Given the description of an element on the screen output the (x, y) to click on. 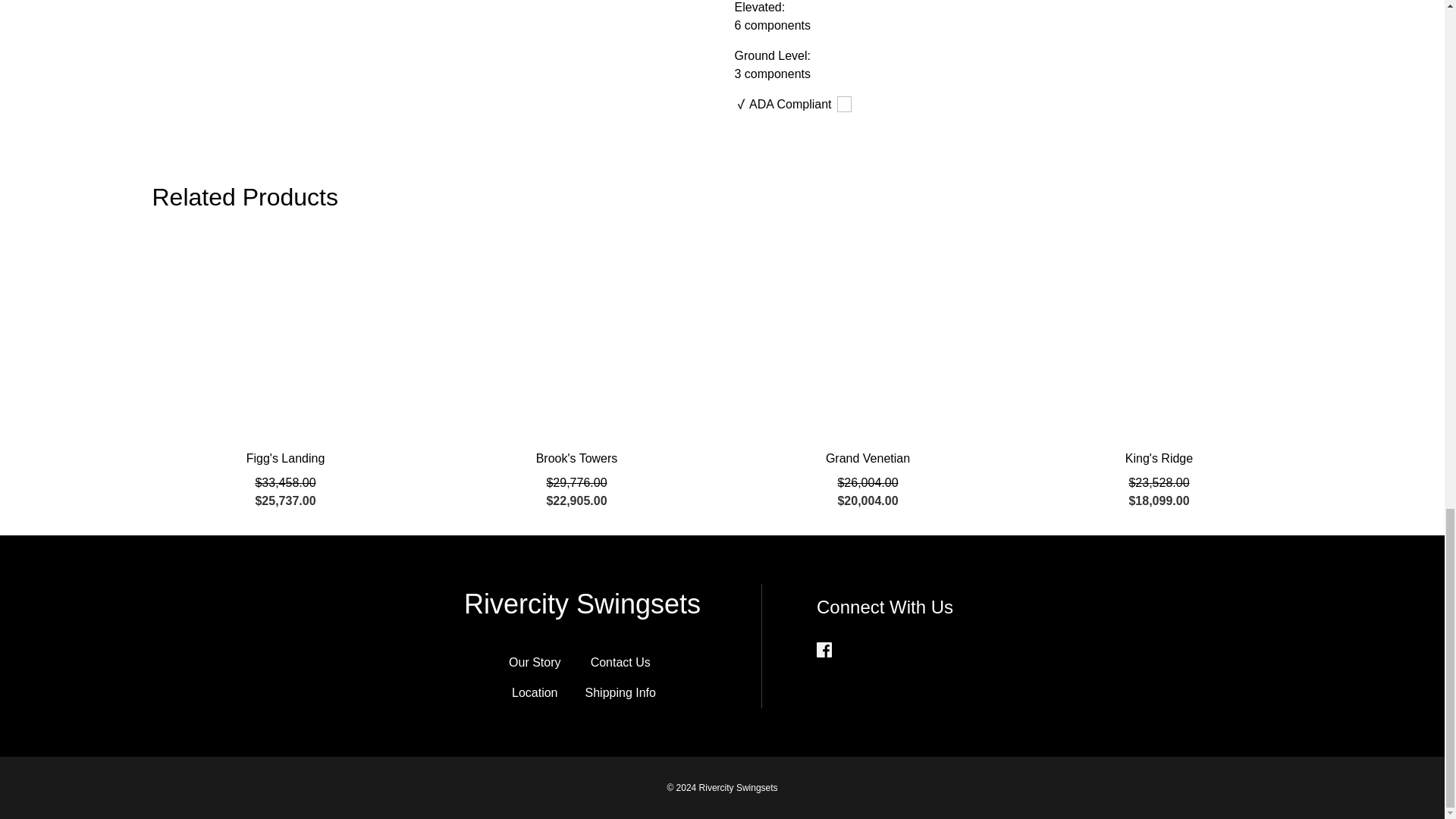
Contact Us (620, 662)
Location (534, 692)
Our Story (534, 662)
Shipping Info (620, 692)
